Given the description of an element on the screen output the (x, y) to click on. 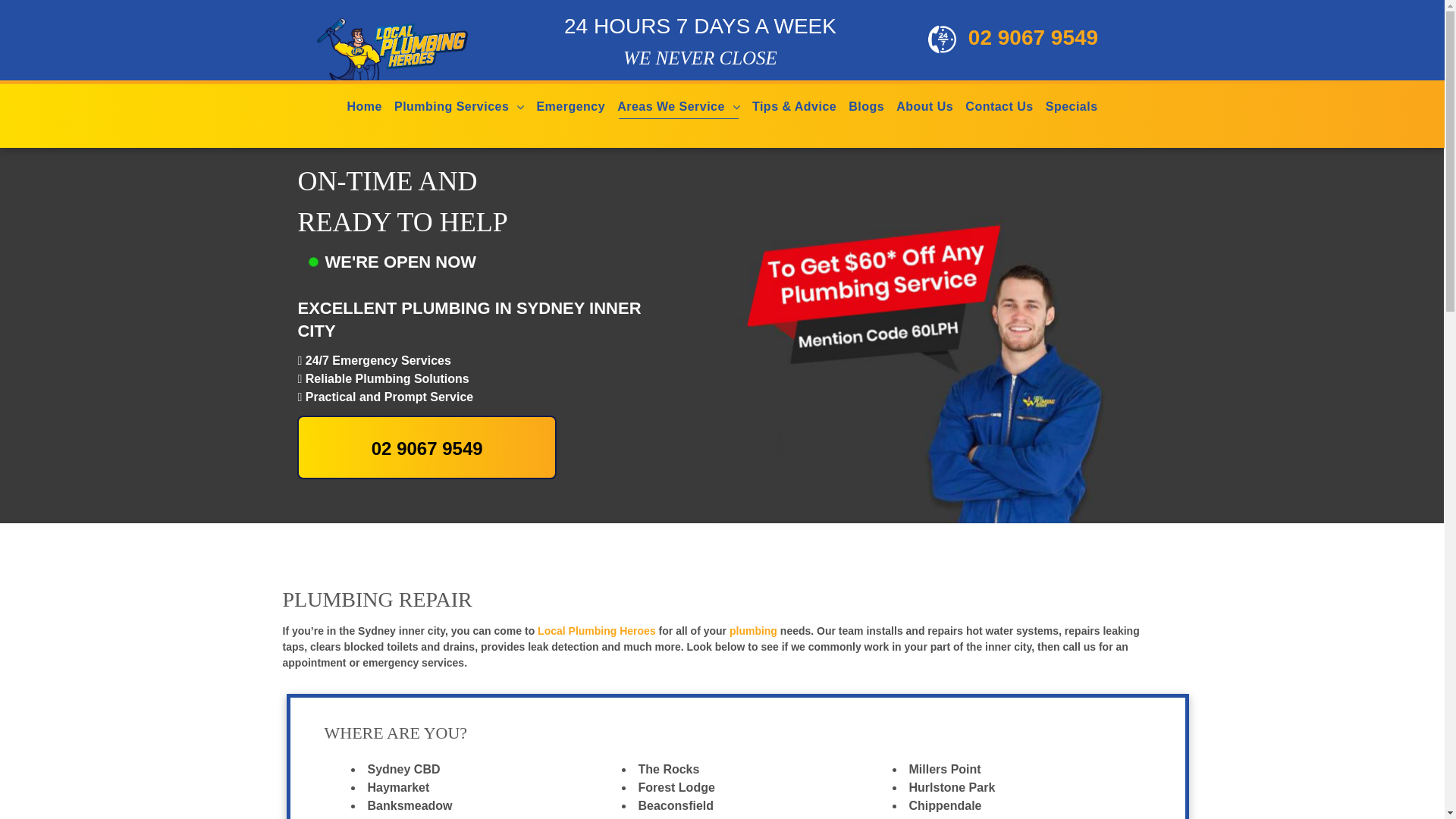
Contact Us Element type: text (998, 106)
Emergency Element type: text (570, 106)
About Us Element type: text (924, 106)
Specials Element type: text (1071, 106)
Plumbing Services Element type: text (451, 106)
Home Element type: text (364, 106)
02 9067 9549 Element type: text (1012, 39)
02 9067 9549 Element type: text (426, 447)
Areas We Service Element type: text (671, 106)
Blogs Element type: text (866, 106)
Plumber Sydney Element type: text (439, 46)
Tips & Advice Element type: text (794, 106)
